Given the description of an element on the screen output the (x, y) to click on. 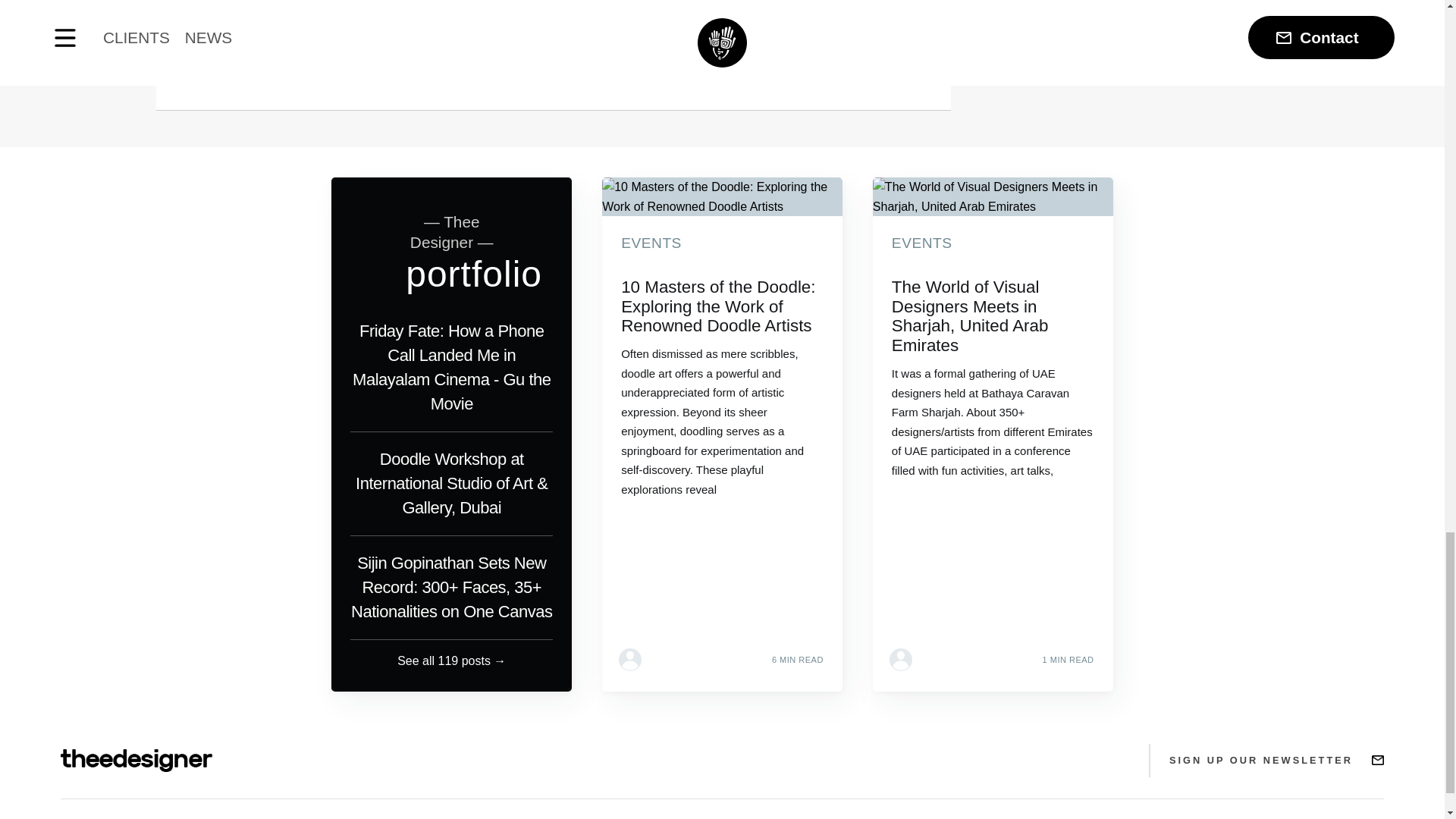
portfolio (473, 273)
